Given the description of an element on the screen output the (x, y) to click on. 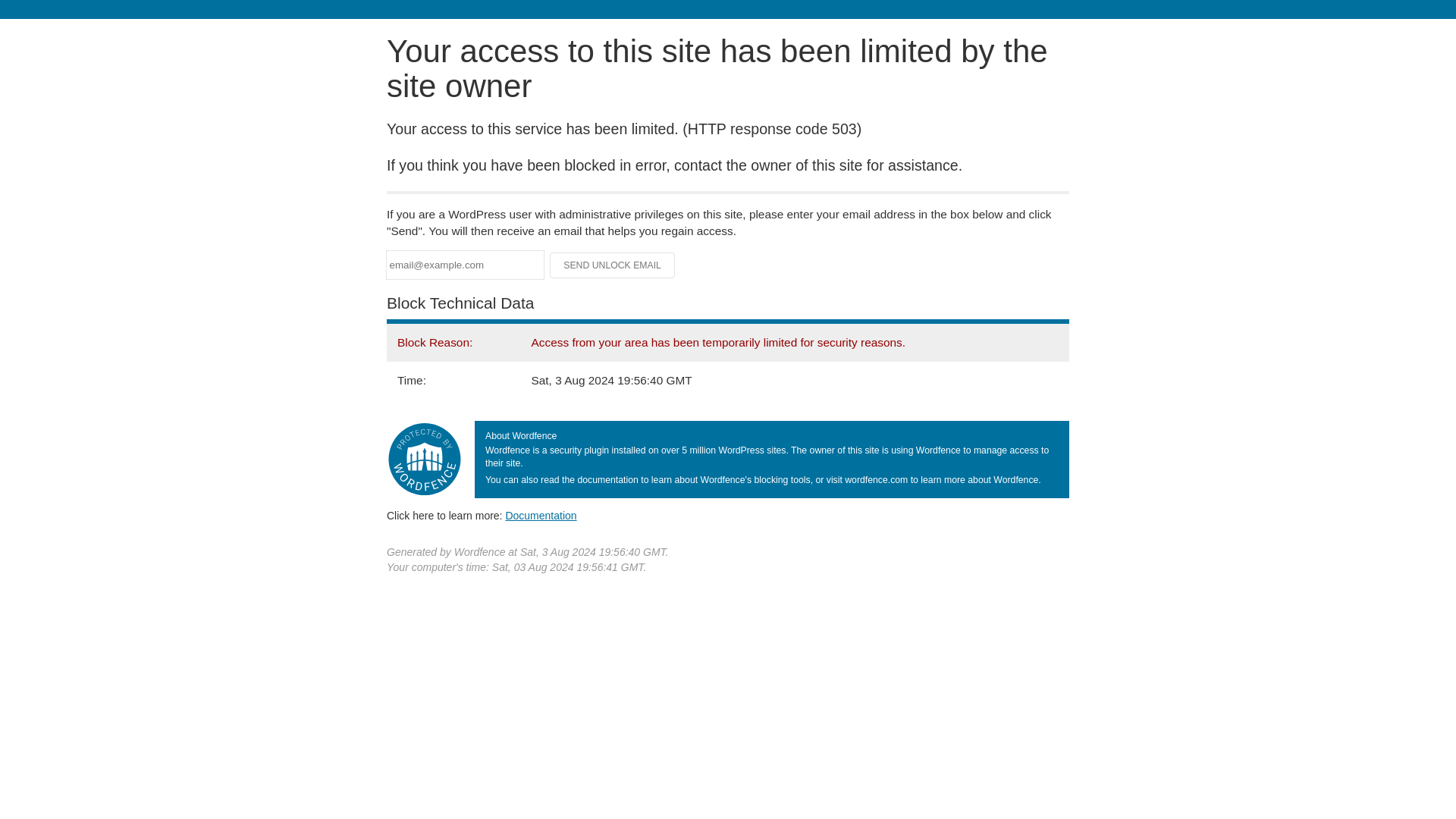
Send Unlock Email (612, 265)
Documentation (540, 515)
Send Unlock Email (612, 265)
